Given the description of an element on the screen output the (x, y) to click on. 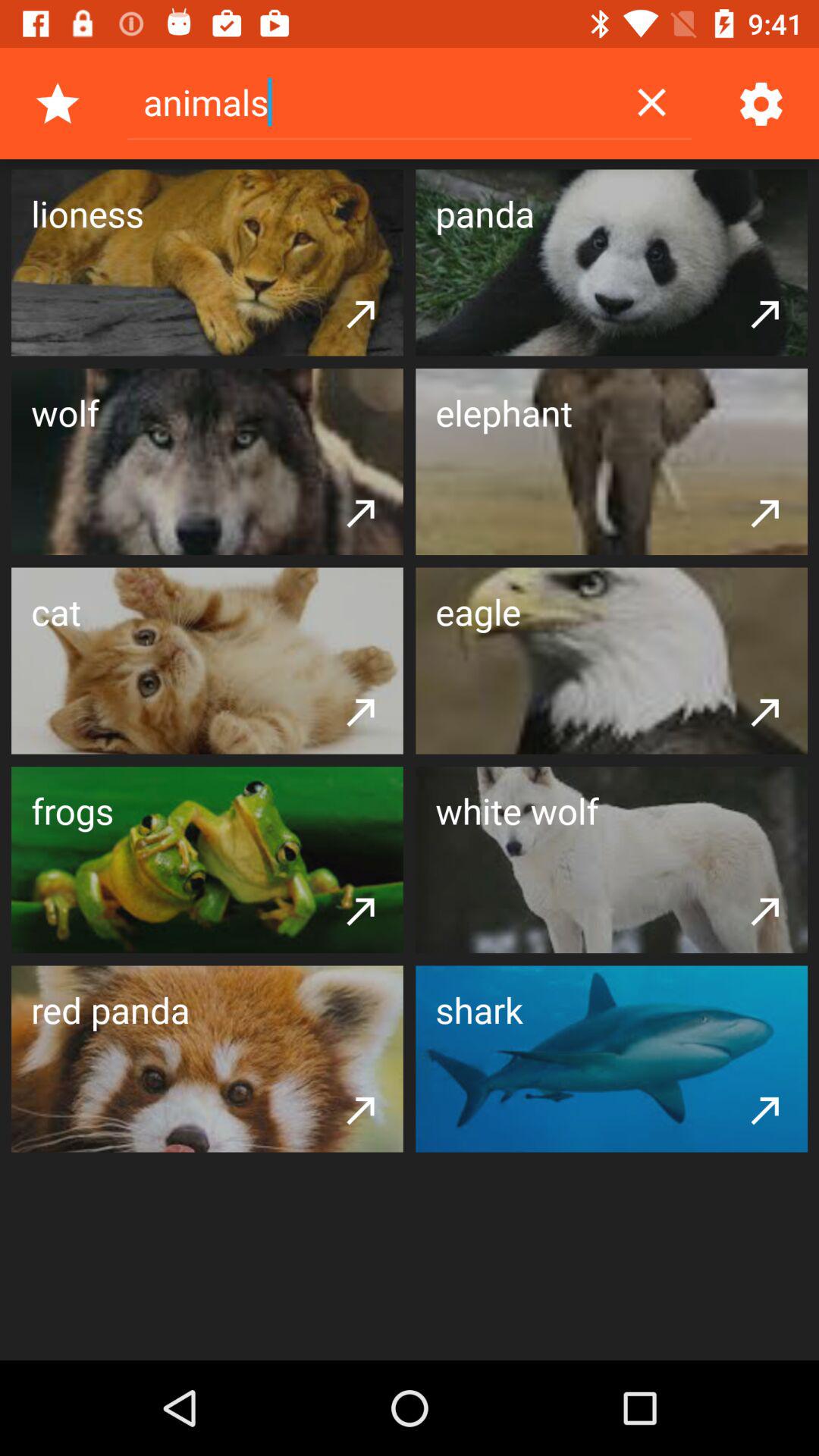
swipe to the animals item (369, 102)
